Given the description of an element on the screen output the (x, y) to click on. 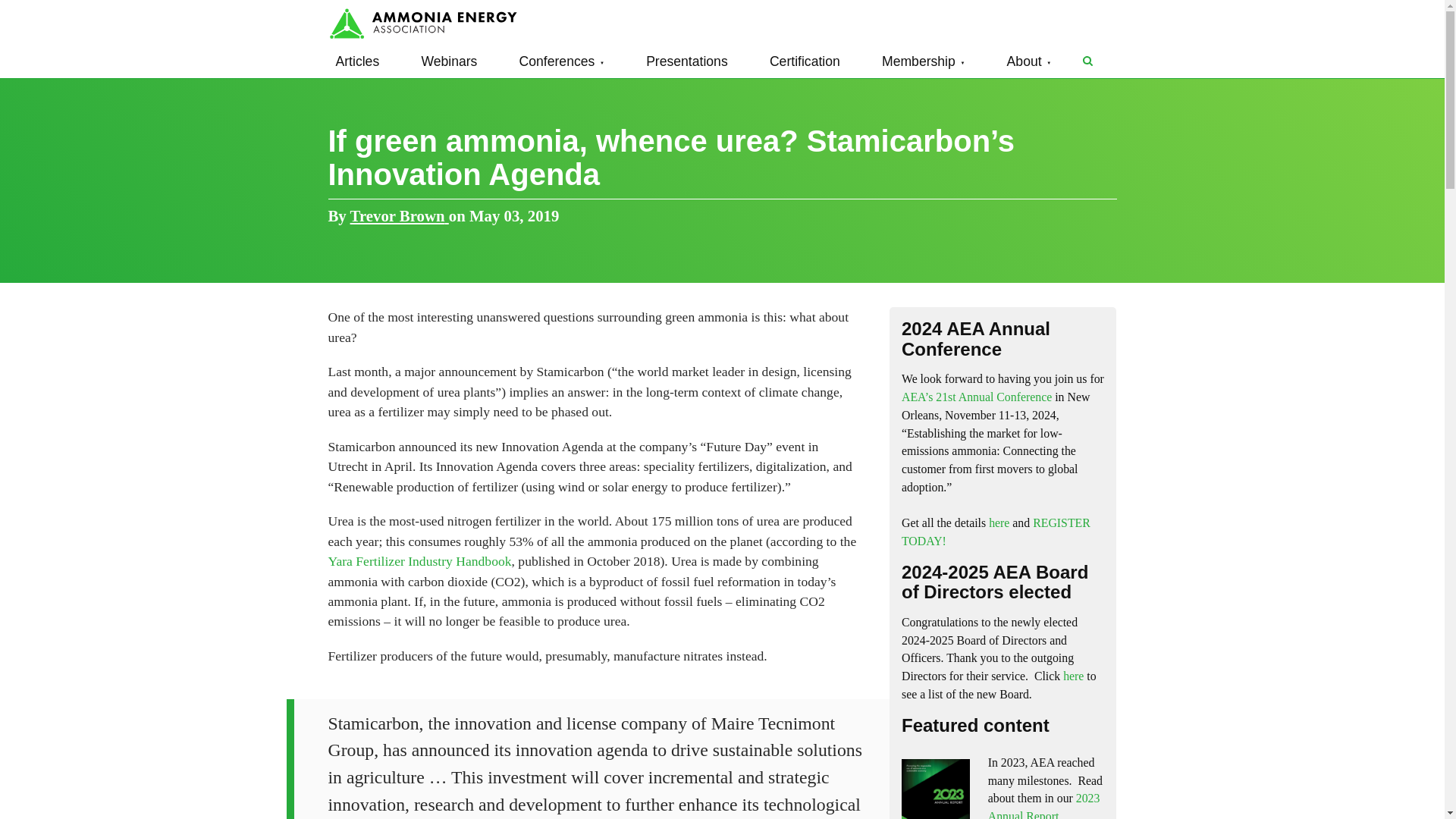
Trevor Brown (399, 215)
Membership (923, 60)
Webinars (448, 60)
About (1028, 60)
Conferences (561, 60)
Articles (357, 60)
Certification (804, 60)
Presentations (687, 60)
Yara Fertilizer Industry Handbook (419, 560)
Search (1088, 61)
